Given the description of an element on the screen output the (x, y) to click on. 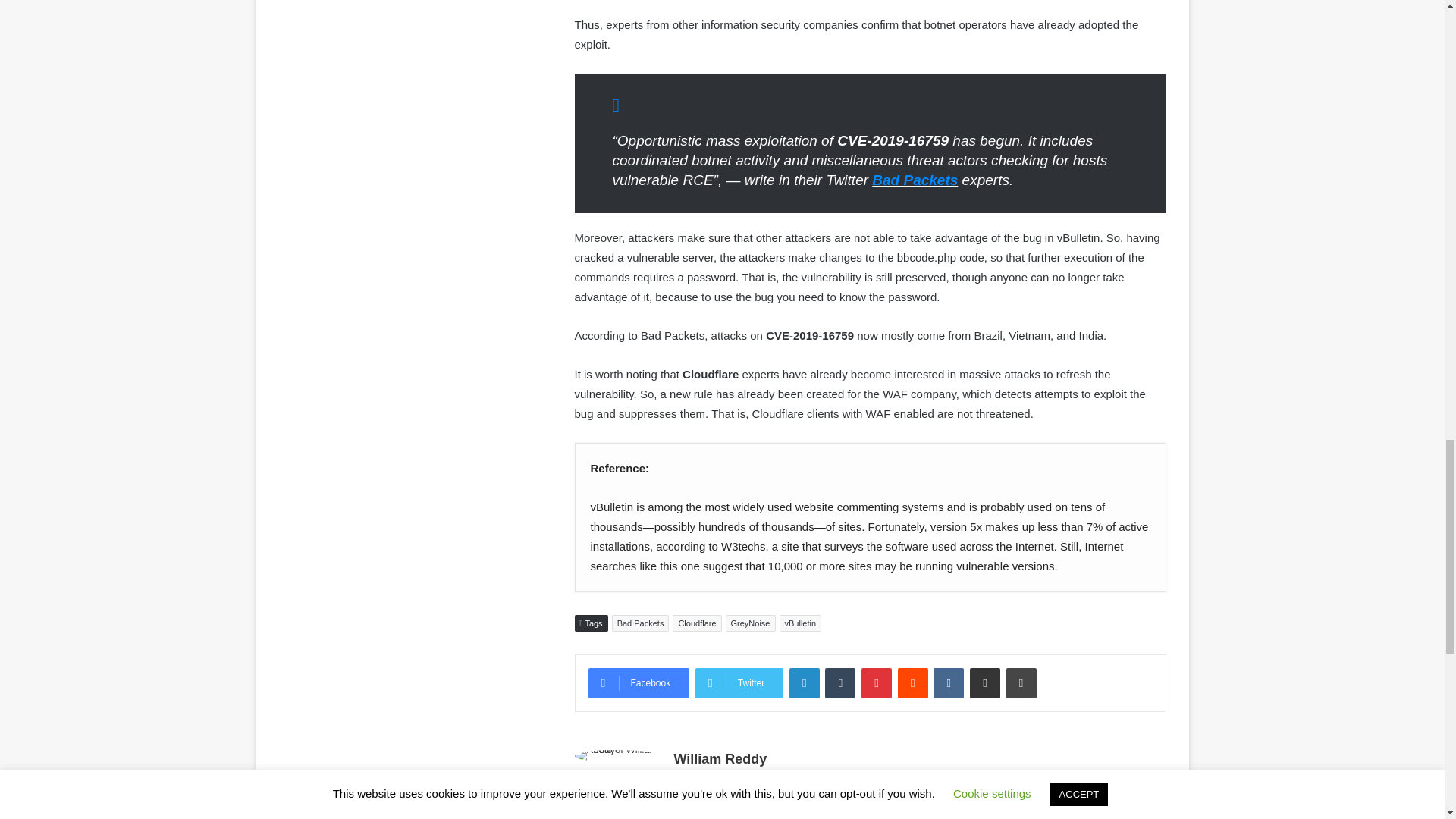
Tumblr (840, 683)
Reddit (913, 683)
Facebook (639, 683)
Print (1021, 683)
Cloudflare (696, 623)
Bad Packets (915, 179)
GreyNoise (750, 623)
Share via Email (984, 683)
Bad Packets (640, 623)
VKontakte (948, 683)
Pinterest (876, 683)
Facebook (639, 683)
vBulletin (800, 623)
LinkedIn (804, 683)
Twitter (739, 683)
